Given the description of an element on the screen output the (x, y) to click on. 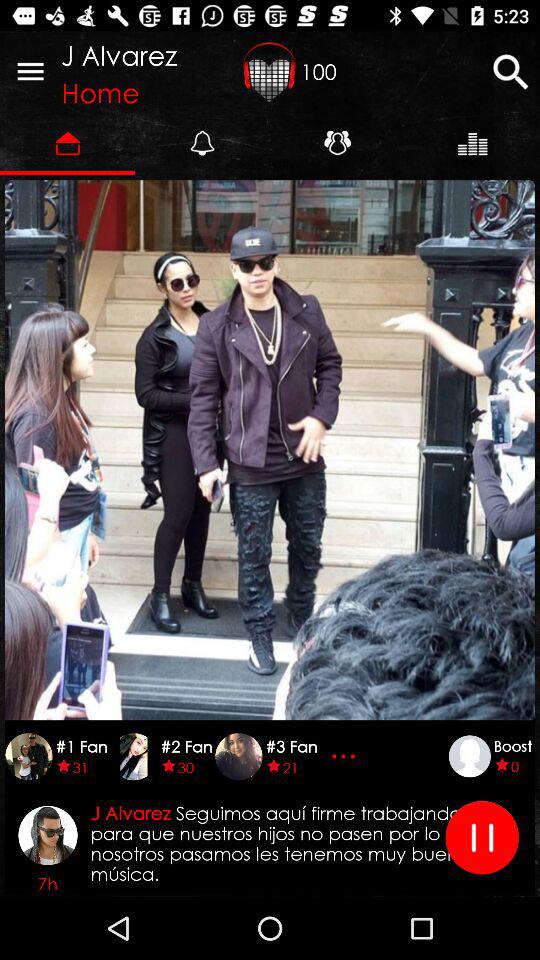
see more options (346, 756)
